Given the description of an element on the screen output the (x, y) to click on. 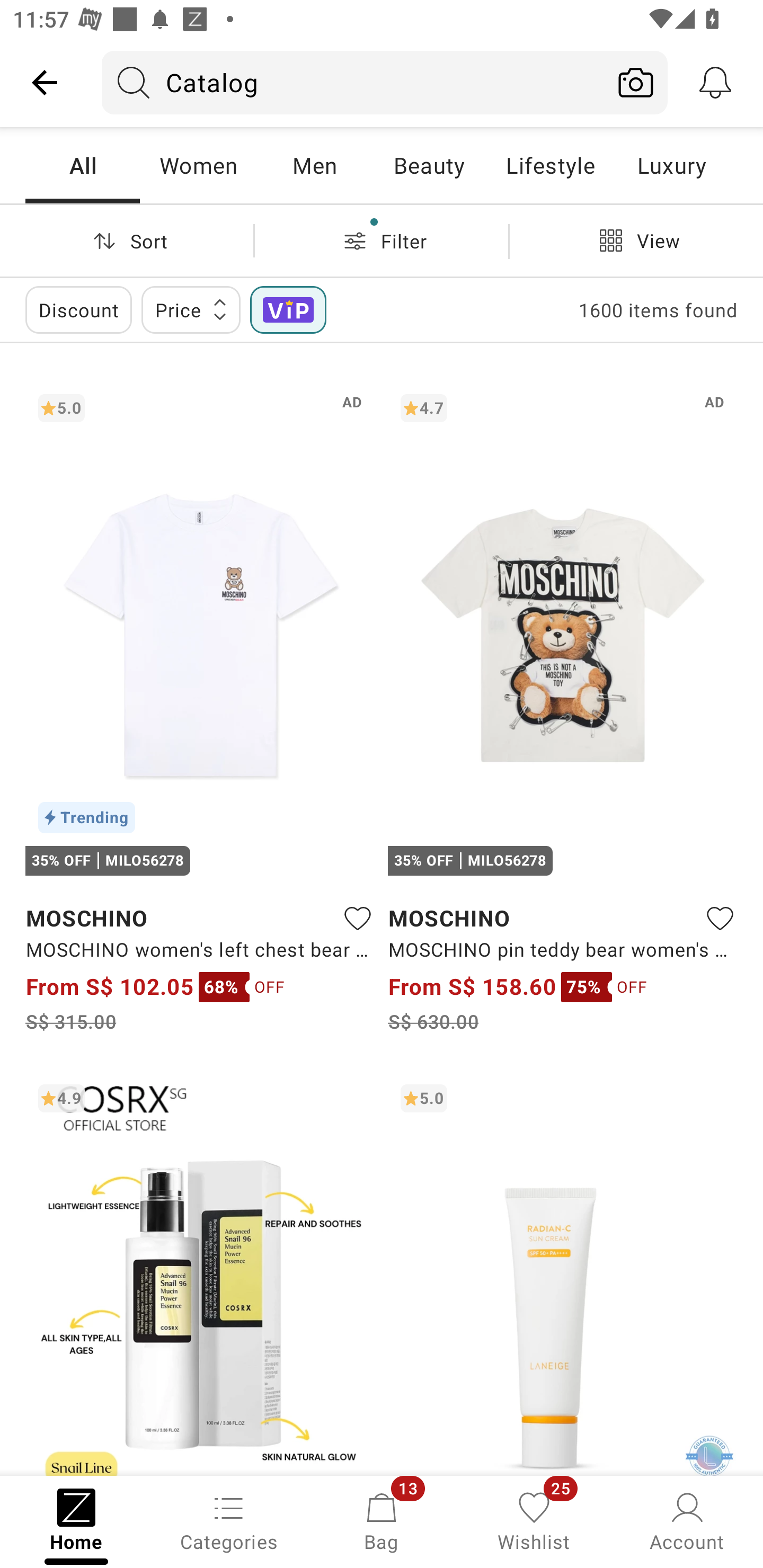
Navigate up (44, 82)
Catalog (352, 82)
Women (198, 165)
Men (314, 165)
Beauty (428, 165)
Lifestyle (550, 165)
Luxury (671, 165)
Sort (126, 240)
Filter (381, 240)
View (636, 240)
Discount (78, 309)
Price (190, 309)
4.9 (200, 1272)
5.0 (562, 1272)
Categories (228, 1519)
Bag, 13 new notifications Bag (381, 1519)
Wishlist, 25 new notifications Wishlist (533, 1519)
Account (686, 1519)
